Given the description of an element on the screen output the (x, y) to click on. 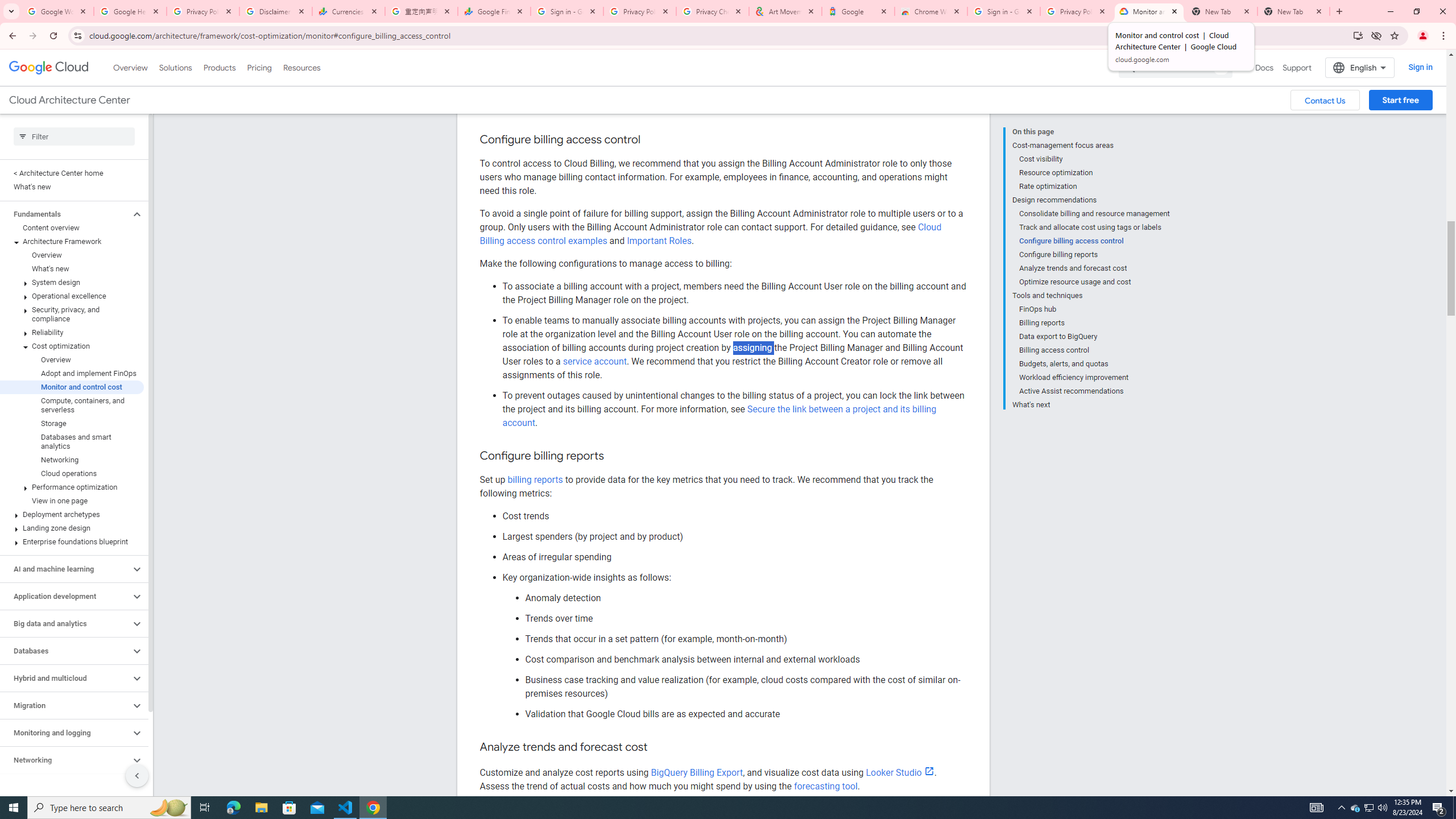
Cloud Billing access control examples (710, 233)
Sign in - Google Accounts (1003, 11)
Tools and techniques (1090, 295)
Hide side navigation (136, 775)
Google (857, 11)
BigQuery Billing Export (697, 772)
Networking (64, 760)
Privacy Checkup (712, 11)
Install Google Cloud (1358, 35)
Fundamentals (64, 214)
Currencies - Google Finance (348, 11)
